Given the description of an element on the screen output the (x, y) to click on. 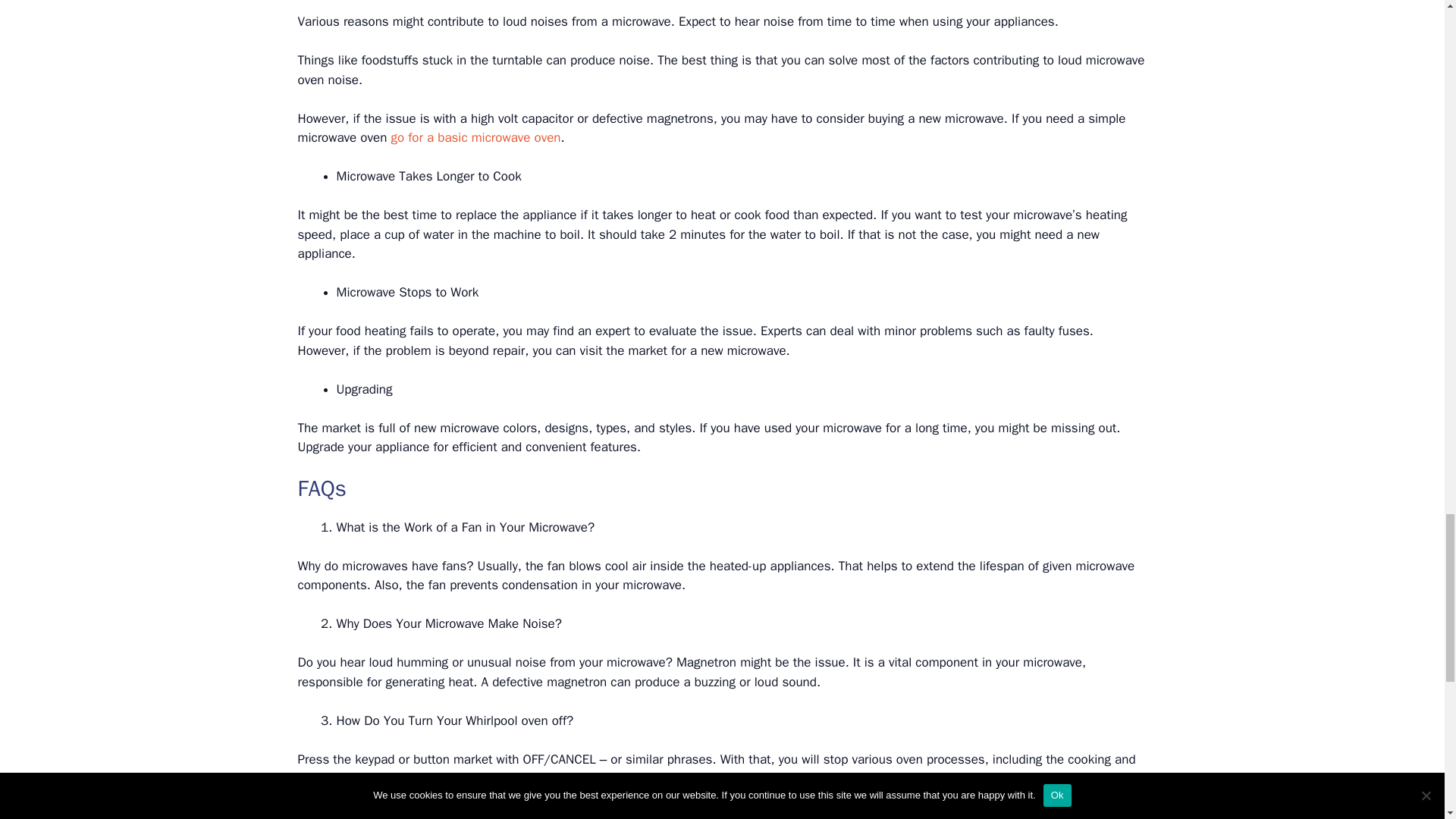
go for a basic microwave oven (475, 137)
